Given the description of an element on the screen output the (x, y) to click on. 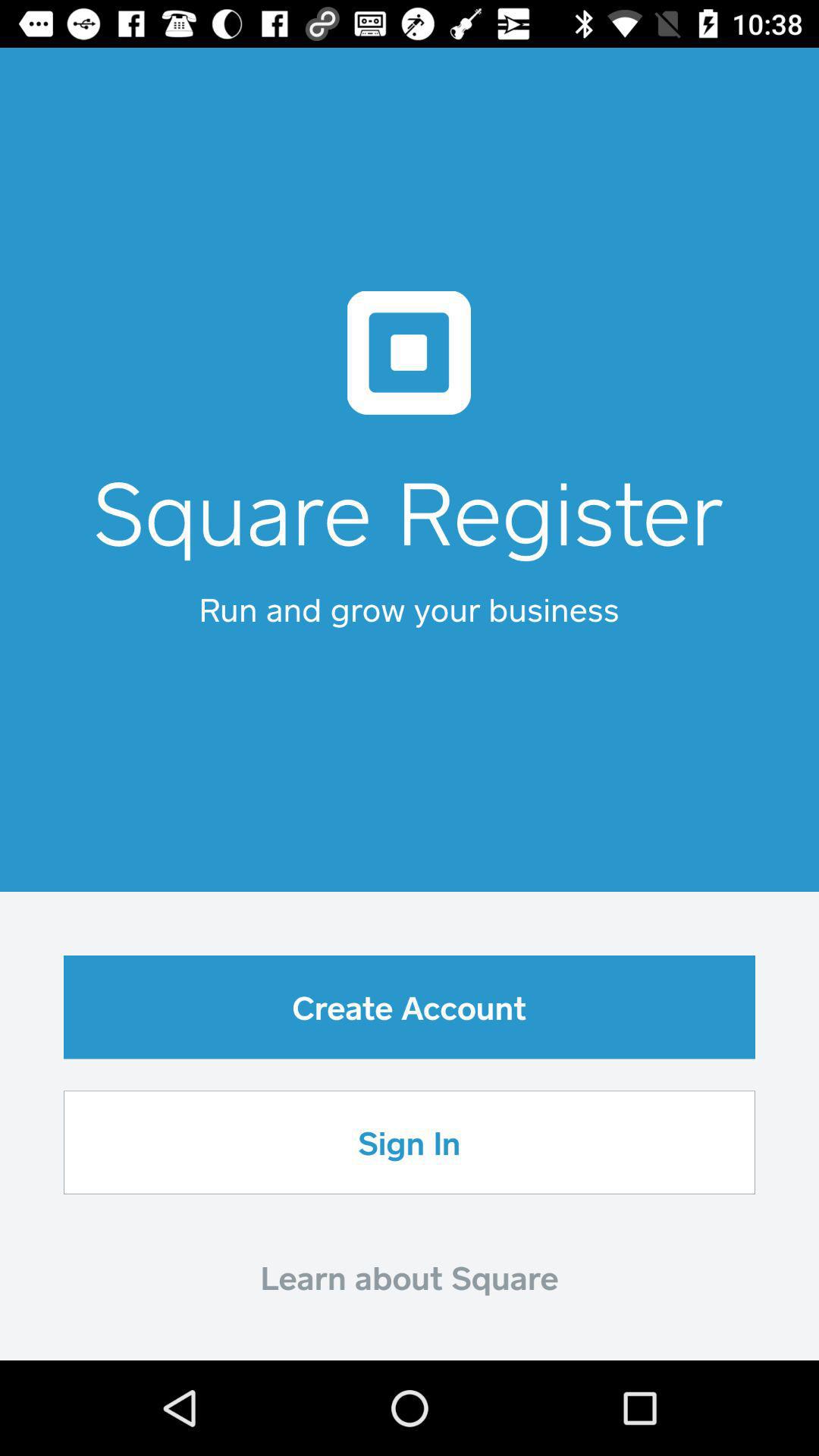
jump until the create account item (409, 1007)
